Given the description of an element on the screen output the (x, y) to click on. 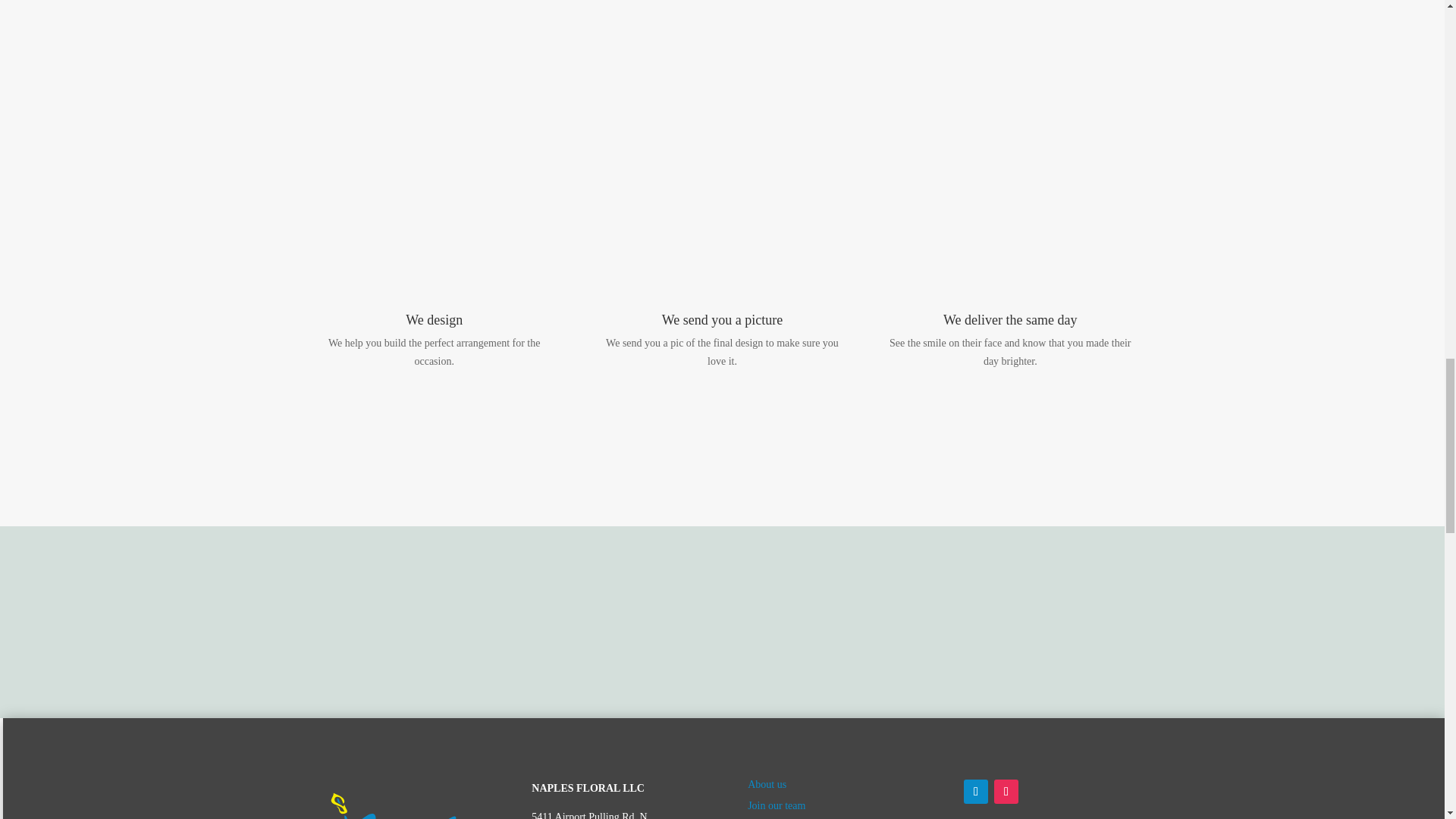
Follow on Facebook (975, 791)
Follow on Instagram (1005, 791)
